Given the description of an element on the screen output the (x, y) to click on. 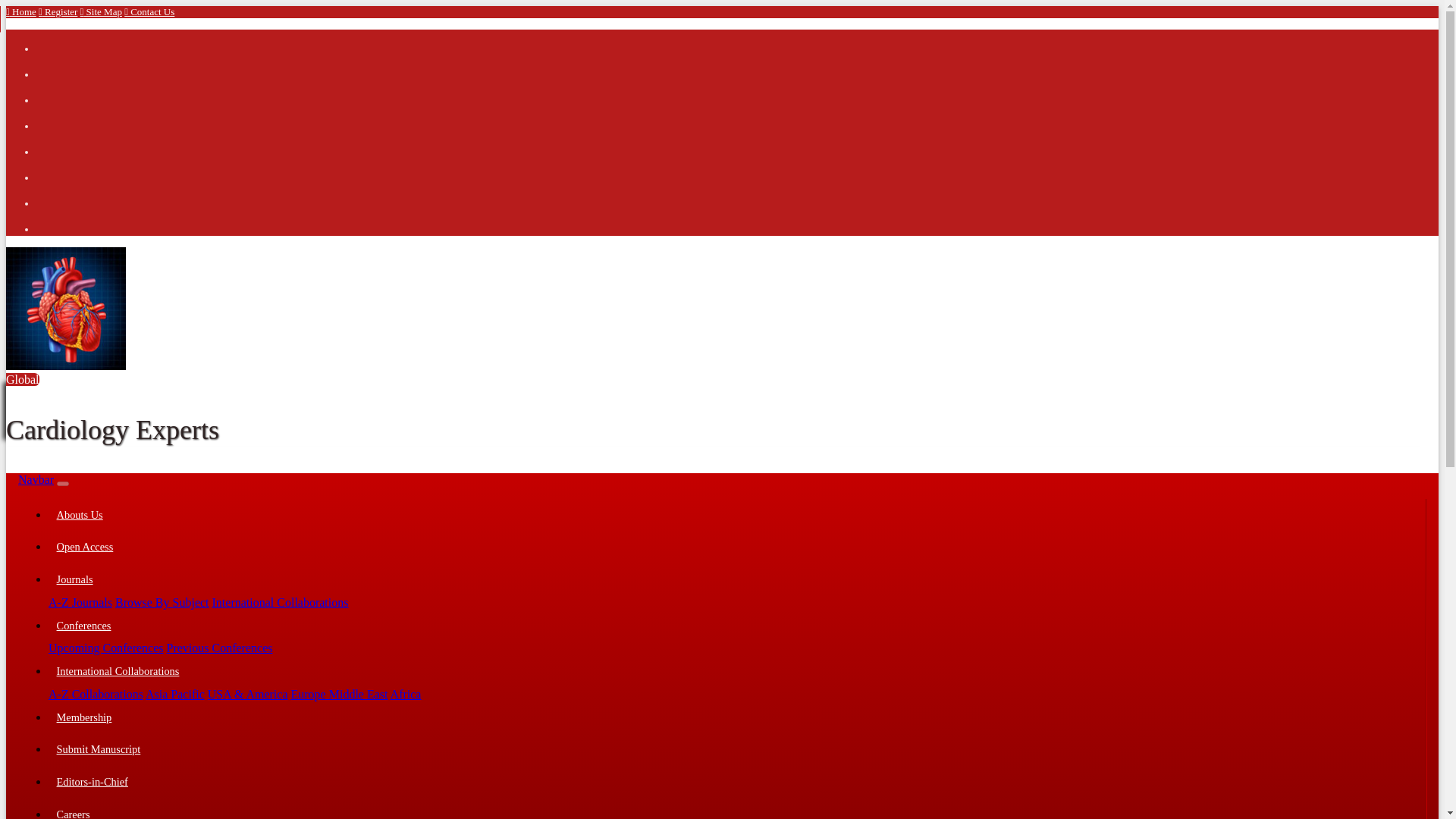
International Collaborations (280, 602)
Site Map (101, 11)
Editors-in-Chief (736, 781)
Slideshare (47, 195)
Twitter (47, 66)
Linkedin (47, 92)
Navbar (35, 479)
RSS (47, 143)
Journals (736, 579)
International Collaborations (280, 602)
Youtube (47, 169)
Previous Conferences (220, 647)
Membership (736, 717)
A-Z Journals (80, 602)
Conferences (736, 625)
